Given the description of an element on the screen output the (x, y) to click on. 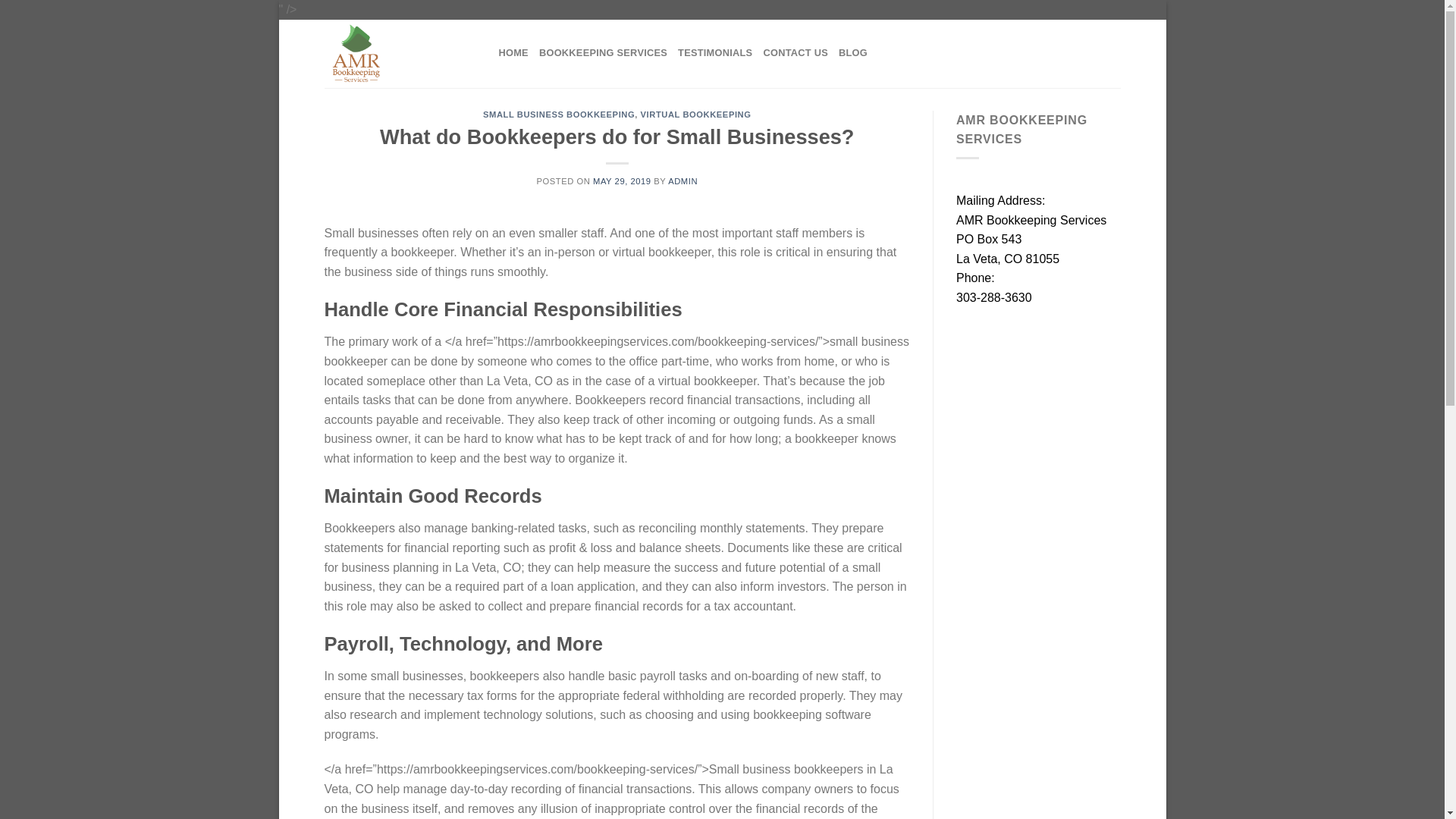
ADMIN (682, 180)
VIRTUAL BOOKKEEPING (695, 113)
HOME (513, 52)
CONTACT US (795, 52)
BOOKKEEPING SERVICES (602, 52)
SMALL BUSINESS BOOKKEEPING (558, 113)
TESTIMONIALS (715, 52)
AMR Bookkeeping Services - AMR Bookkeeping Services (400, 53)
MAY 29, 2019 (621, 180)
BLOG (852, 52)
